Given the description of an element on the screen output the (x, y) to click on. 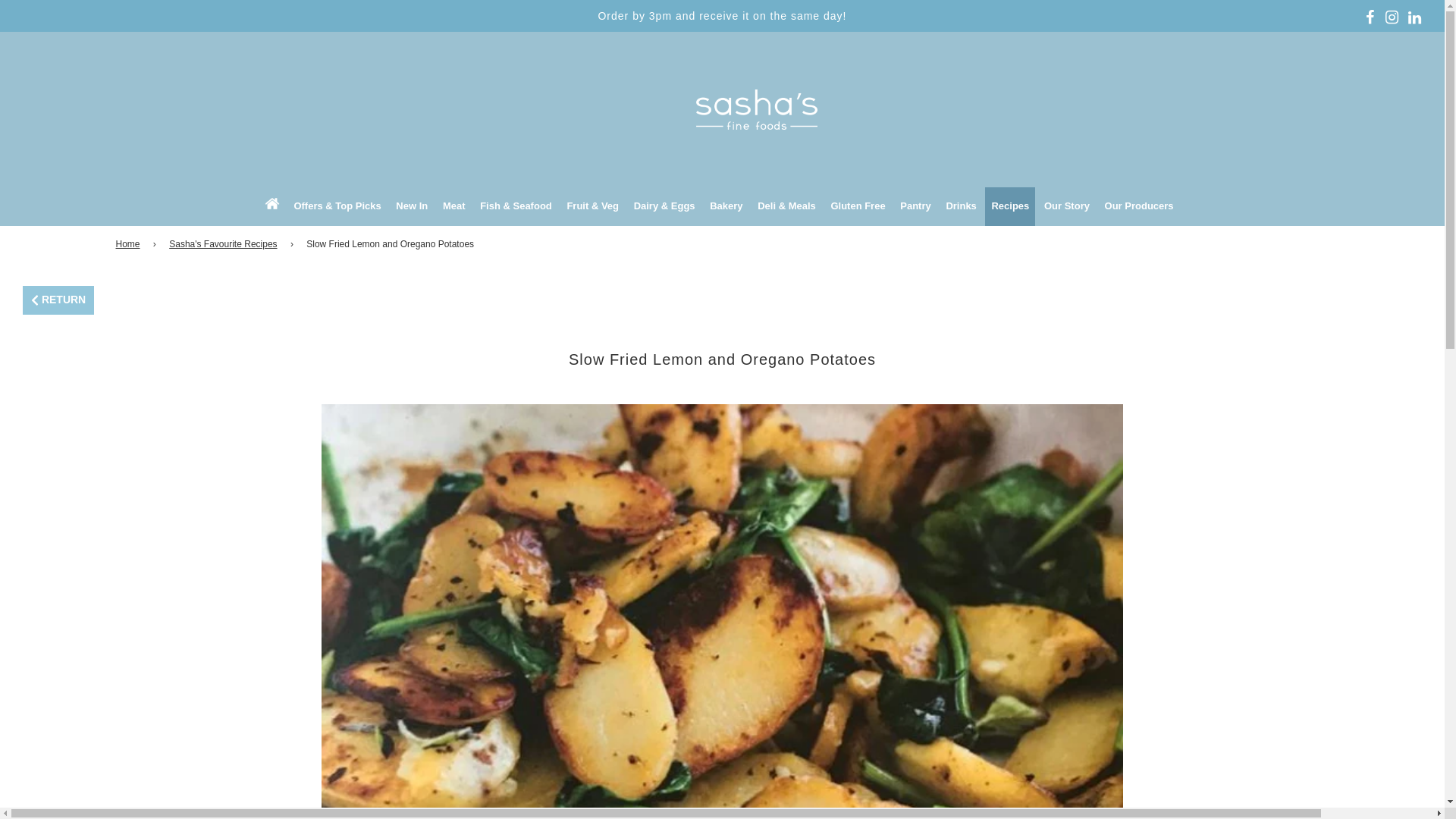
Back to the frontpage (129, 244)
Order by 3pm and receive it on the same day! (722, 15)
